Given the description of an element on the screen output the (x, y) to click on. 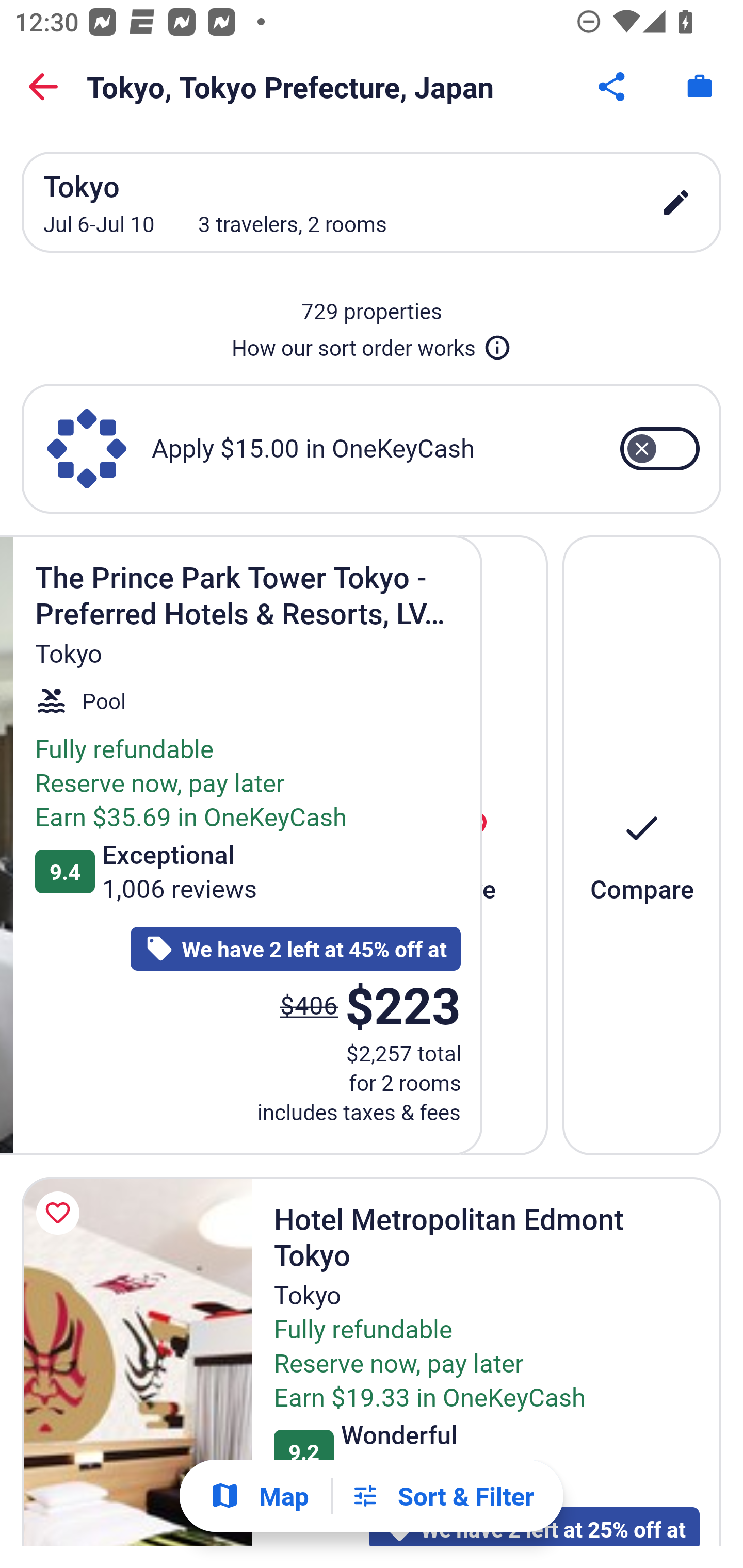
Back (43, 86)
Share Button (612, 86)
Trips. Button (699, 86)
Tokyo Jul 6-Jul 10 3 travelers, 2 rooms edit (371, 202)
How our sort order works (371, 344)
Compare (641, 844)
$406 The price was $406 (312, 1004)
Save Hotel Metropolitan Edmont Tokyo to a trip (61, 1212)
Hotel Metropolitan Edmont Tokyo (136, 1361)
Filters Sort & Filter Filters Button (442, 1495)
Show map Map Show map Button (258, 1495)
